Given the description of an element on the screen output the (x, y) to click on. 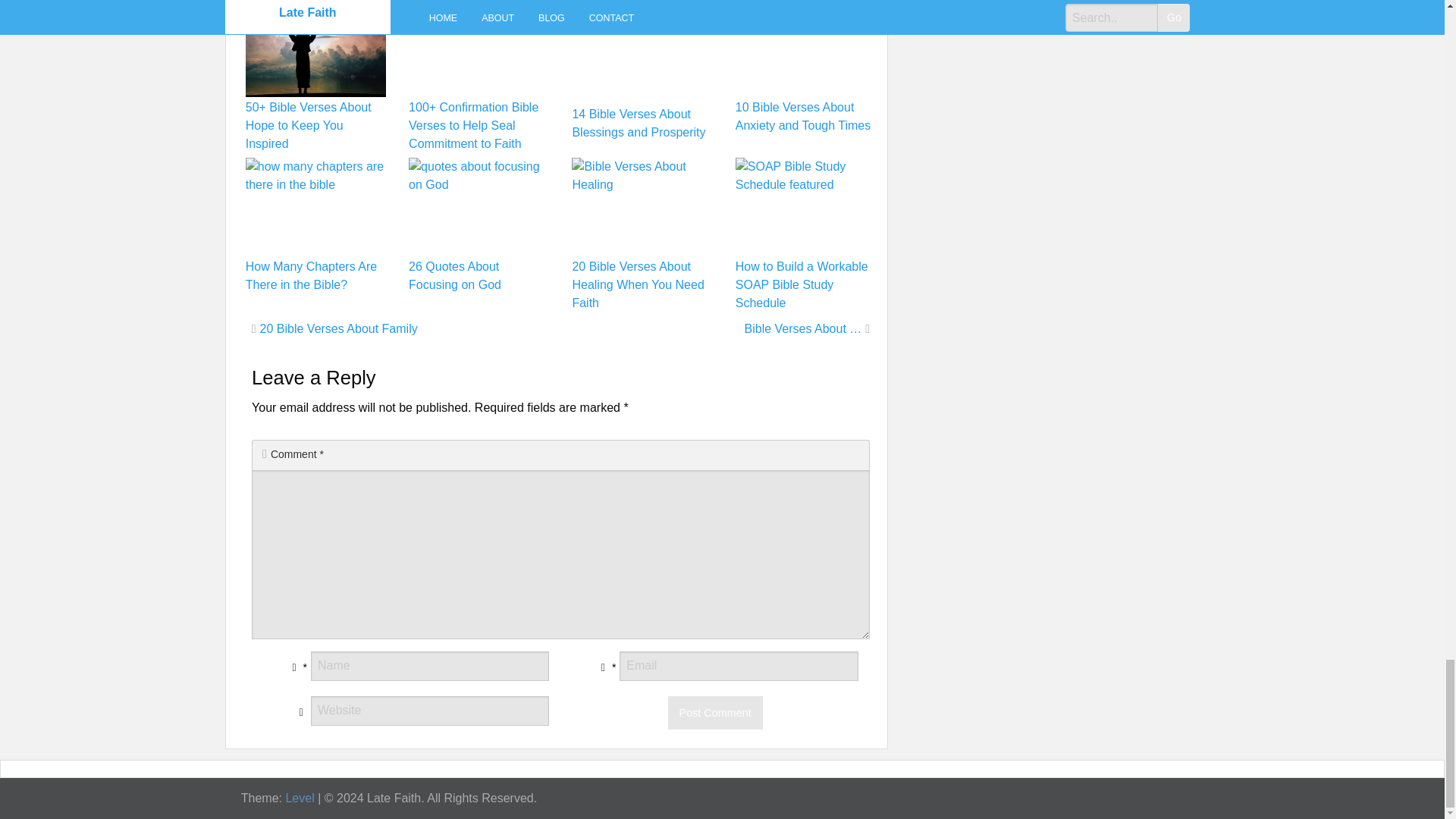
How Many Chapters Are There in the Bible? (311, 275)
14 Bible Verses About Blessings and Prosperity (638, 122)
10 Bible Verses About Anxiety and Tough Times (802, 115)
How Many Chapters Are There in the Bible? (311, 275)
26 Quotes About Focusing on God (454, 275)
14 Bible Verses About Blessings and Prosperity (638, 122)
10 Bible Verses About Anxiety and Tough Times (802, 115)
Post Comment (715, 712)
